Given the description of an element on the screen output the (x, y) to click on. 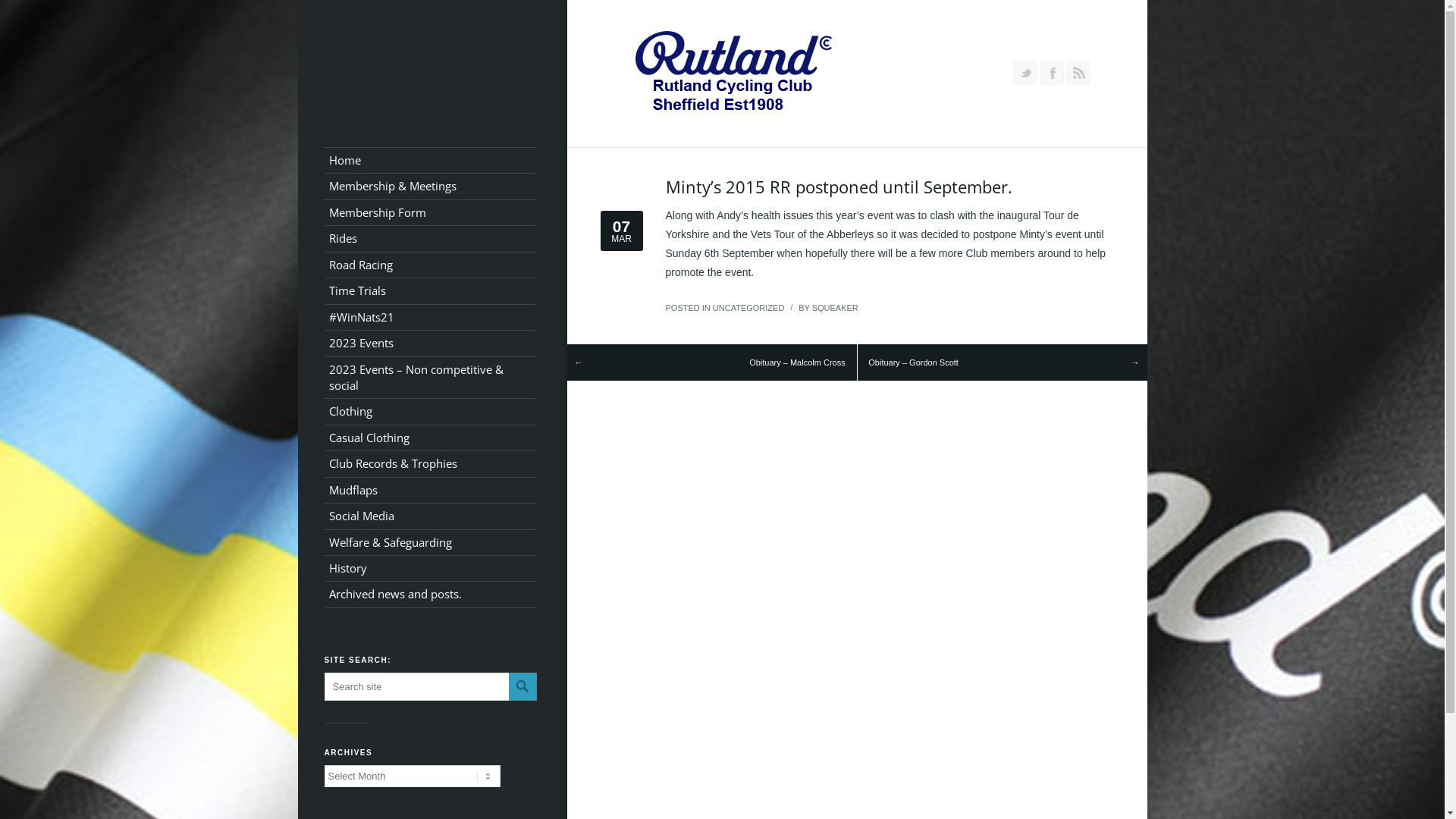
#WinNats21 Element type: text (430, 316)
Membership Form Element type: text (430, 212)
Follow us on Twitter Element type: text (1025, 72)
2023 Events Element type: text (430, 342)
History Element type: text (430, 567)
UNCATEGORIZED Element type: text (748, 307)
Membership & Meetings Element type: text (430, 185)
Welfare & Safeguarding Element type: text (430, 542)
Join our Facebook Group Element type: text (1050, 72)
Club Records & Trophies Element type: text (430, 463)
Archived news and posts. Element type: text (430, 593)
RSS Element type: text (1078, 72)
SQUEAKER Element type: text (835, 307)
Social Media Element type: text (430, 515)
Time Trials Element type: text (430, 290)
Rides Element type: text (430, 238)
Casual Clothing Element type: text (430, 437)
Mudflaps Element type: text (430, 489)
Clothing Element type: text (430, 410)
Home Element type: text (430, 159)
Road Racing Element type: text (430, 264)
